Given the description of an element on the screen output the (x, y) to click on. 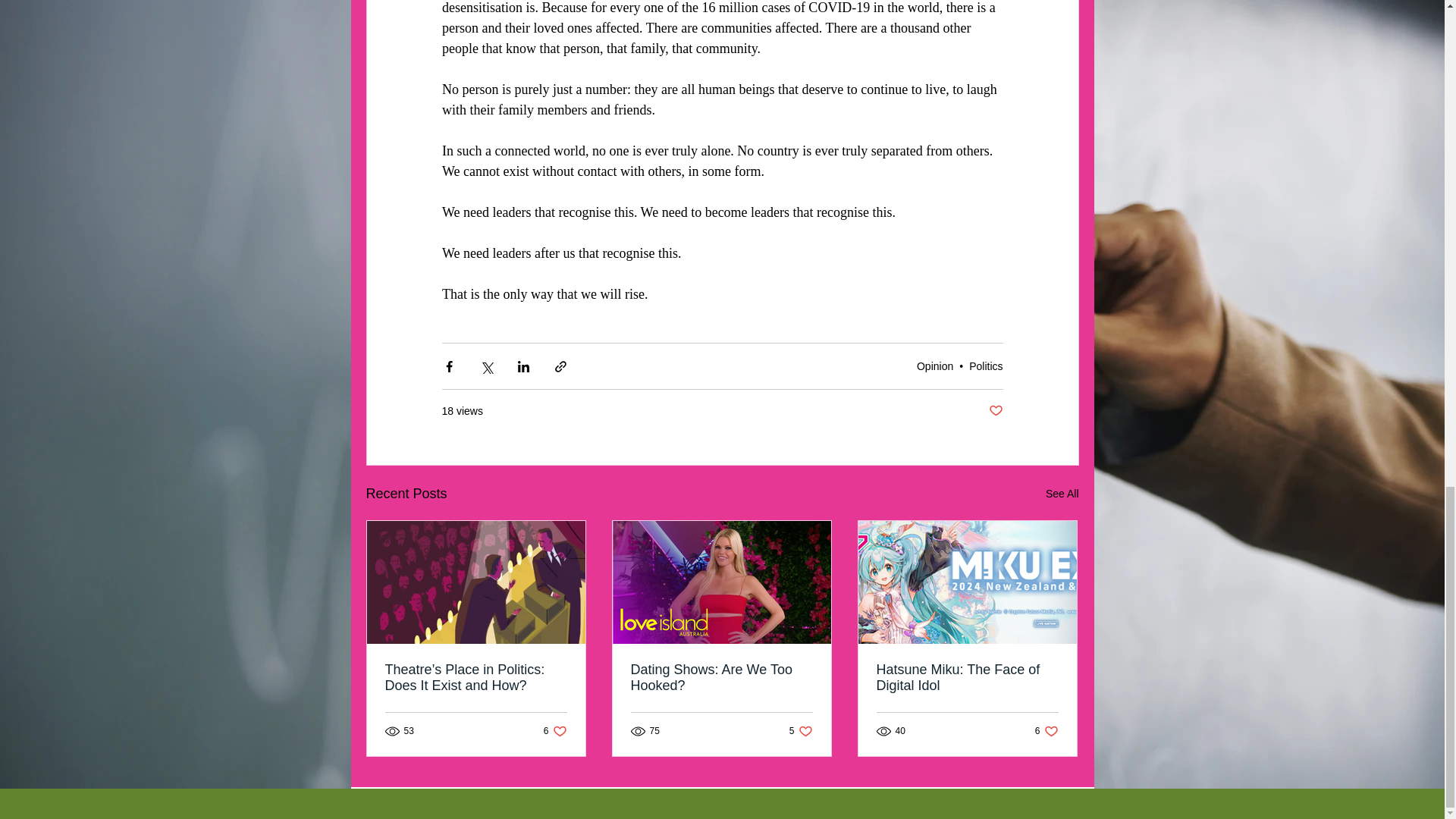
Politics (986, 365)
Post not marked as liked (1046, 730)
See All (800, 730)
Hatsune Miku: The Face of Digital Idol (995, 411)
Opinion (1061, 494)
Dating Shows: Are We Too Hooked? (967, 677)
